Given the description of an element on the screen output the (x, y) to click on. 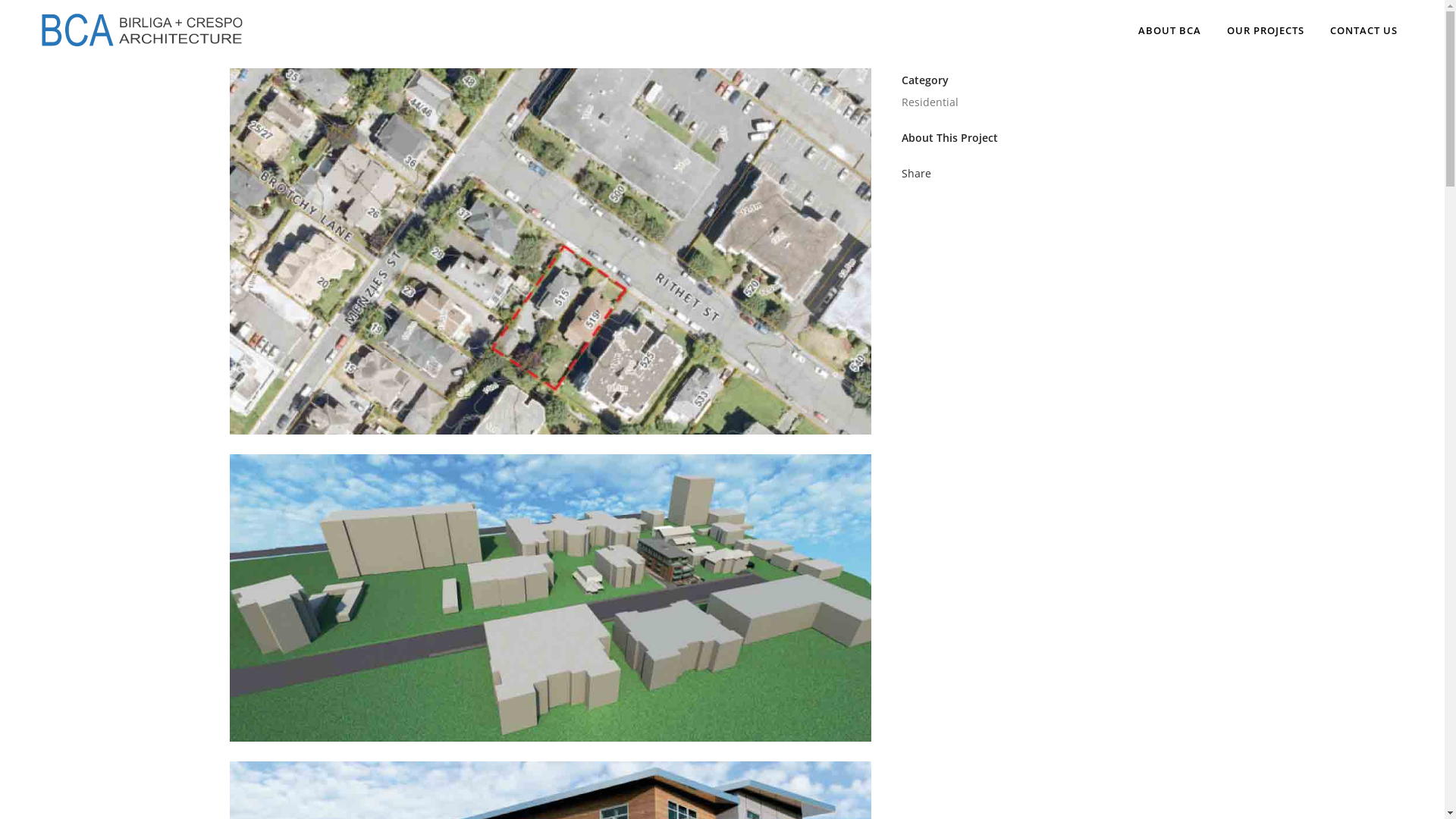
JamesBayRihet1 Element type: hover (550, 443)
OUR PROJECTS Element type: text (1265, 30)
ABOUT BCA Element type: text (1169, 30)
Share Element type: text (916, 173)
CONTACT US Element type: text (1363, 30)
